Given the description of an element on the screen output the (x, y) to click on. 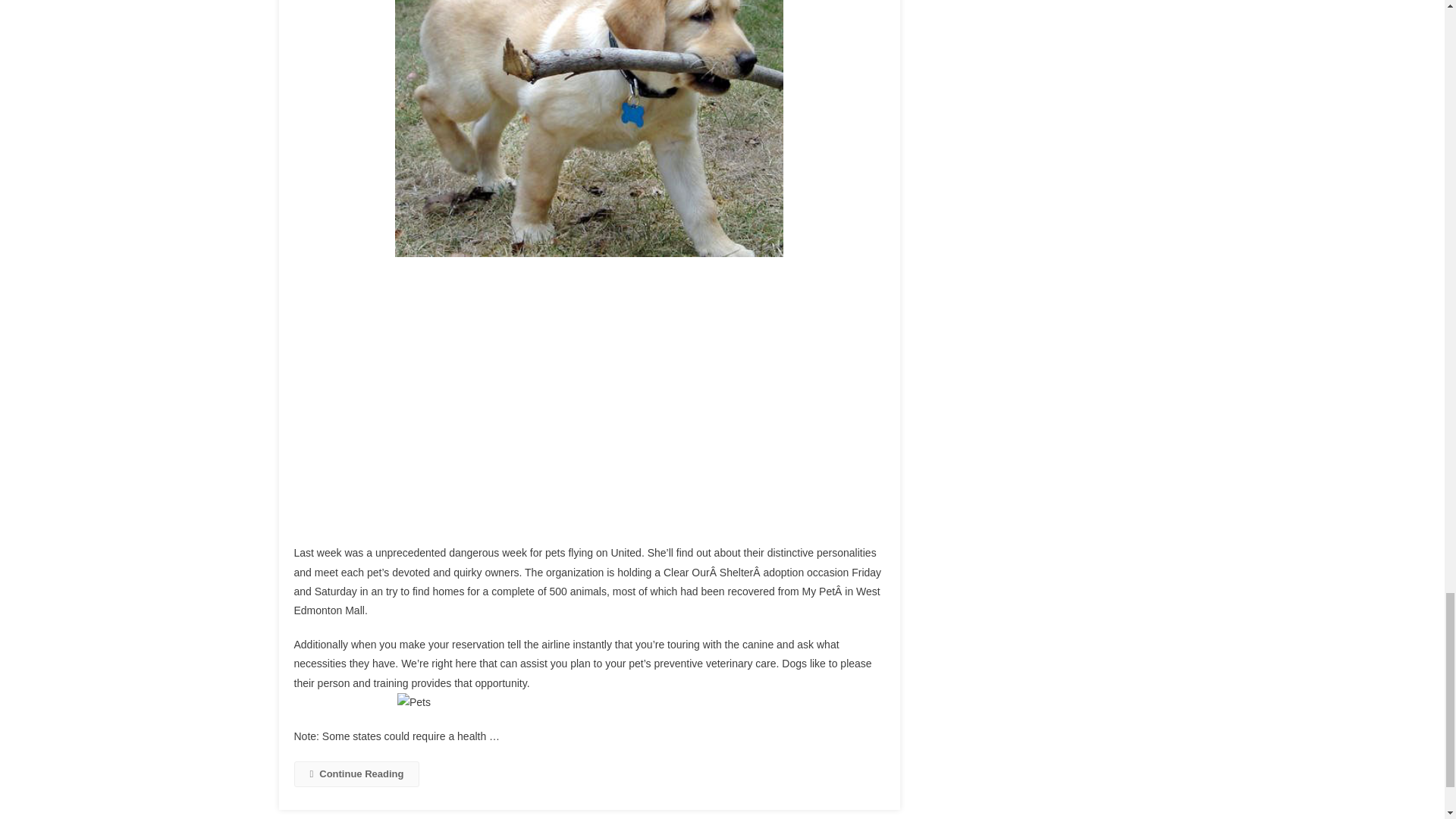
Continue Reading (357, 773)
